Given the description of an element on the screen output the (x, y) to click on. 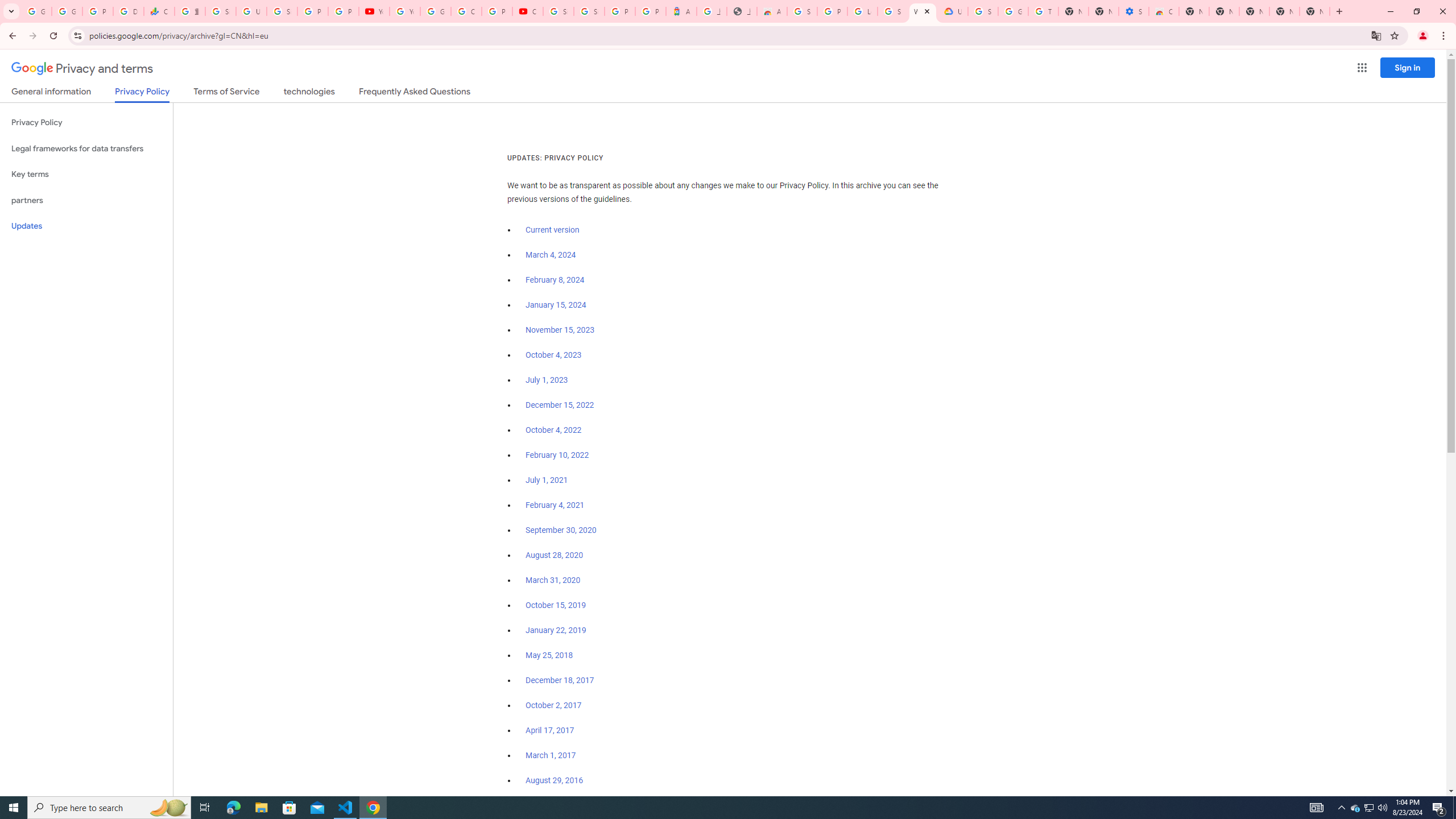
Key terms (86, 174)
Chrome (1445, 35)
Settings - Accessibility (1133, 11)
Turn cookies on or off - Computer - Google Account Help (1042, 11)
March 4, 2024 (550, 255)
Google Account Help (434, 11)
YouTube (373, 11)
November 15, 2023 (560, 330)
December 18, 2017 (559, 679)
Sign in - Google Accounts (801, 11)
Search tabs (10, 11)
Who are Google's partners? - Privacy and conditions - Google (922, 11)
Google Workspace Admin Community (36, 11)
